Given the description of an element on the screen output the (x, y) to click on. 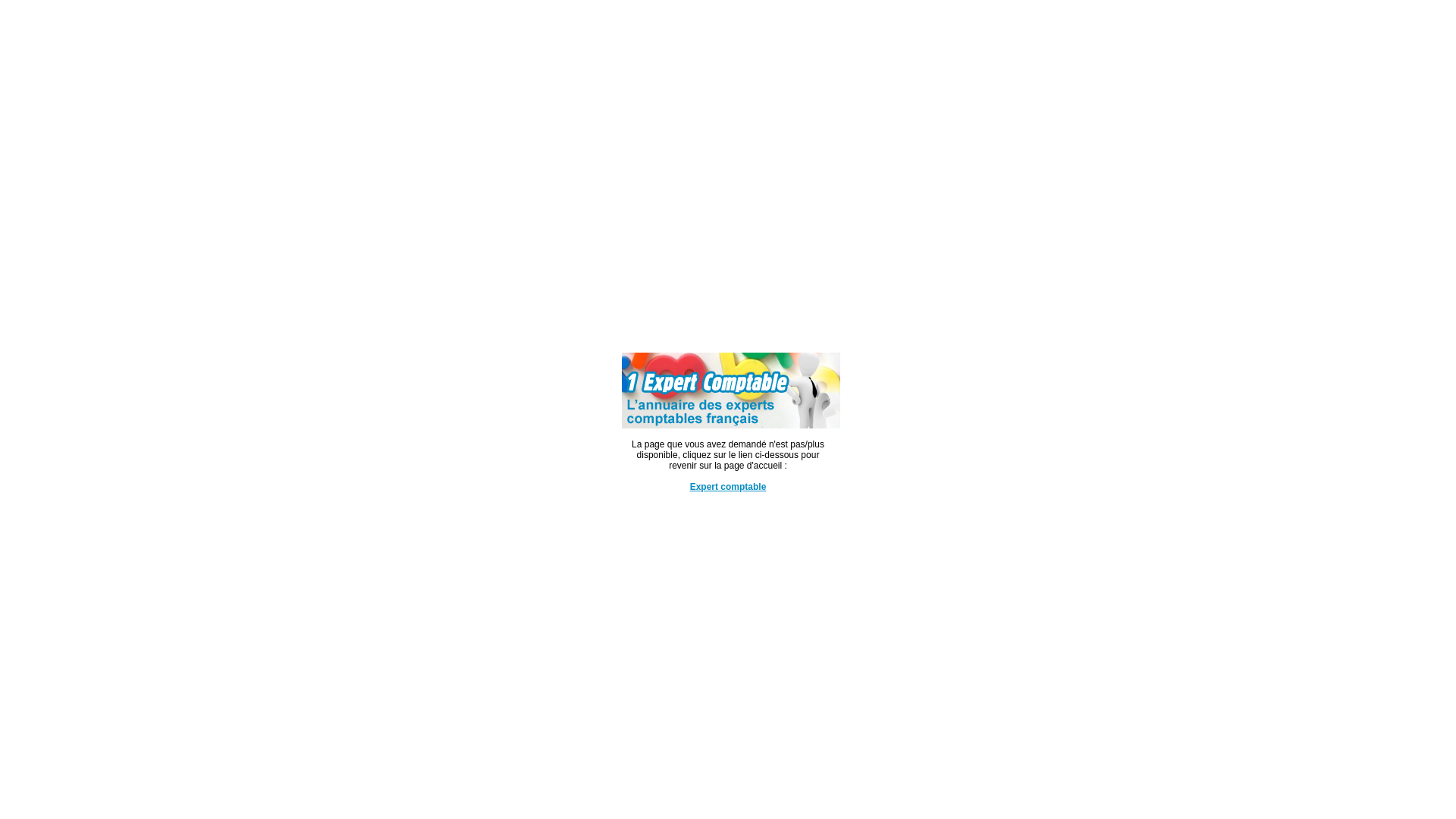
Expert comptable Element type: text (728, 486)
Expert comptable Element type: hover (730, 425)
